Given the description of an element on the screen output the (x, y) to click on. 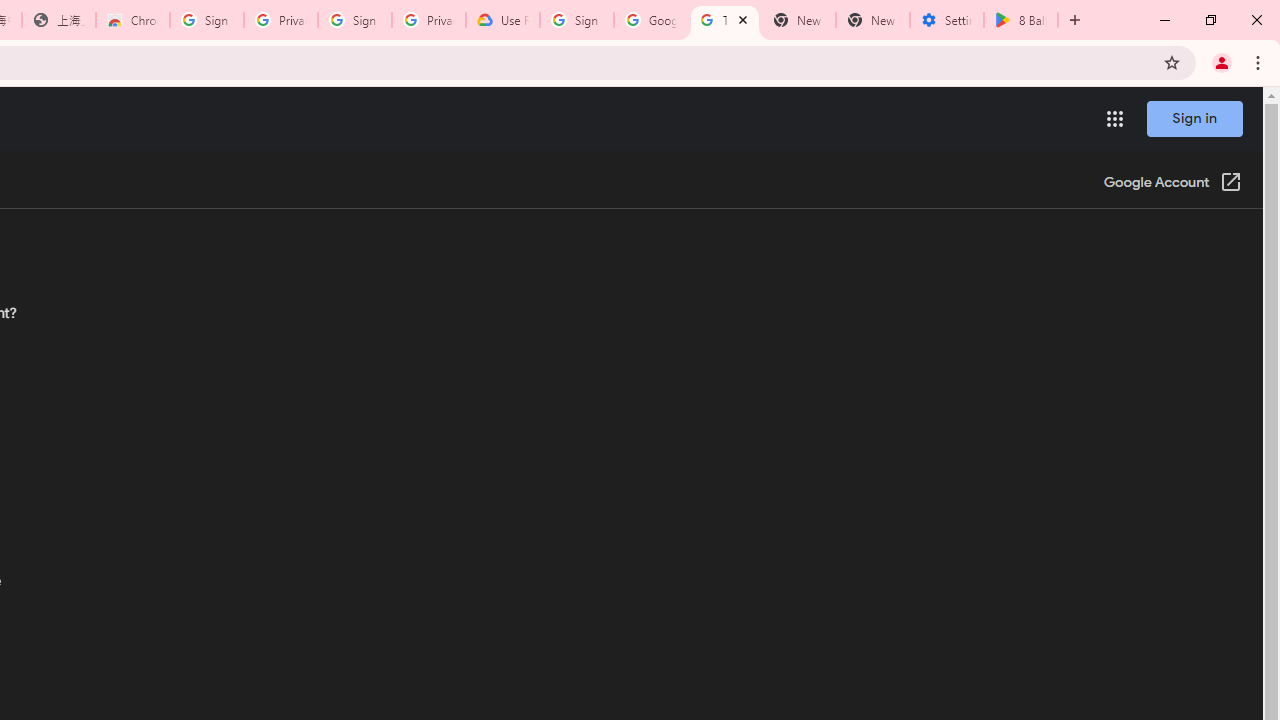
Sign in - Google Accounts (577, 20)
Settings - System (947, 20)
Sign in - Google Accounts (207, 20)
Chrome Web Store - Color themes by Chrome (133, 20)
New Tab (872, 20)
Turn cookies on or off - Computer - Google Account Help (724, 20)
8 Ball Pool - Apps on Google Play (1021, 20)
Google Account Help (651, 20)
